Given the description of an element on the screen output the (x, y) to click on. 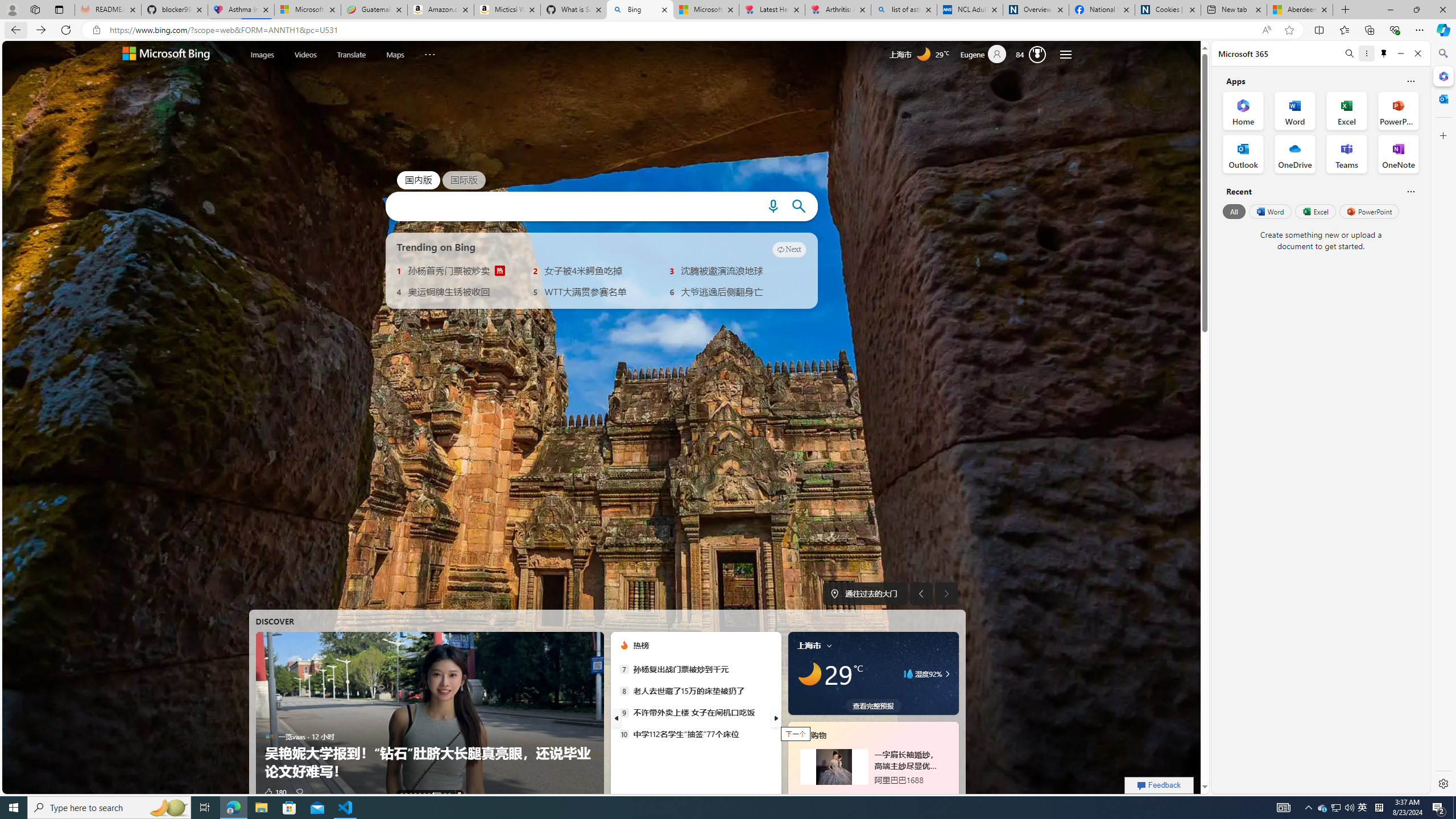
AutomationID: tab-9 (448, 793)
PowerPoint (1369, 210)
AutomationID: tab-3 (415, 793)
Excel Office App (1346, 110)
Aberdeen, Hong Kong SAR hourly forecast | Microsoft Weather (1300, 9)
Settings and quick links (1065, 54)
PowerPoint Office App (1398, 110)
tab-6 (866, 795)
tab-5 (859, 795)
